Given the description of an element on the screen output the (x, y) to click on. 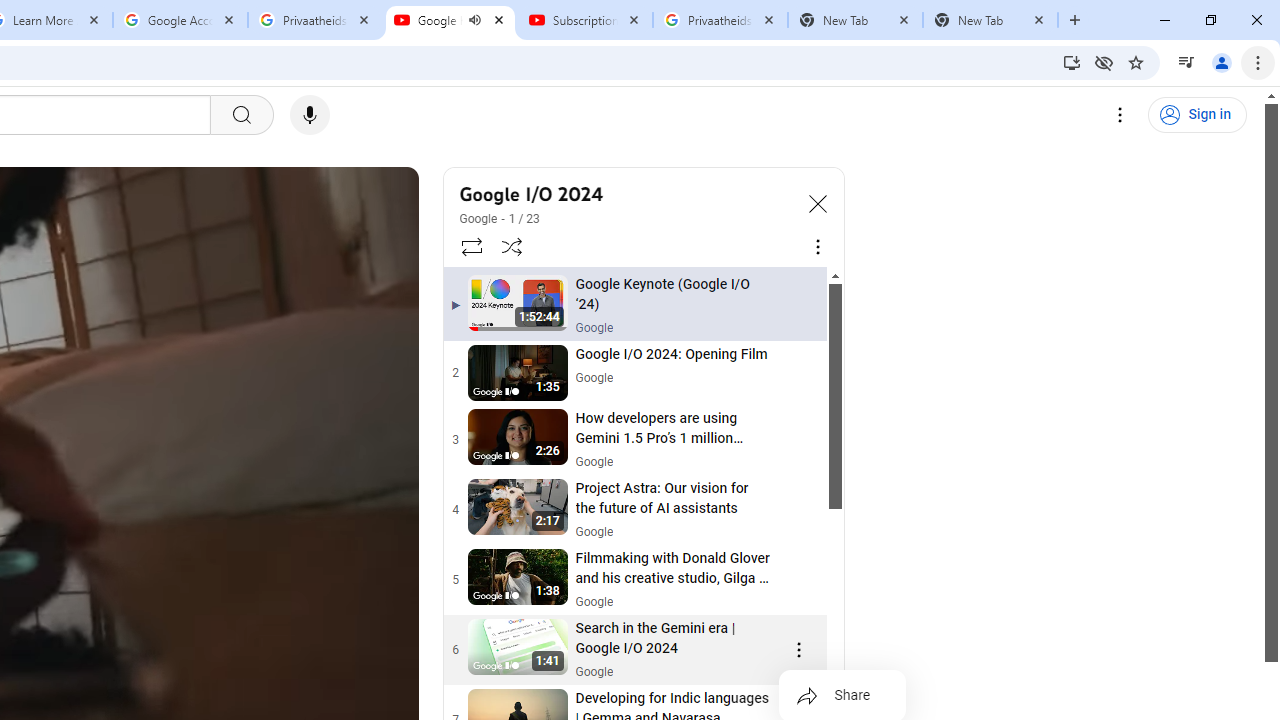
Subscriptions - YouTube (585, 20)
